Given the description of an element on the screen output the (x, y) to click on. 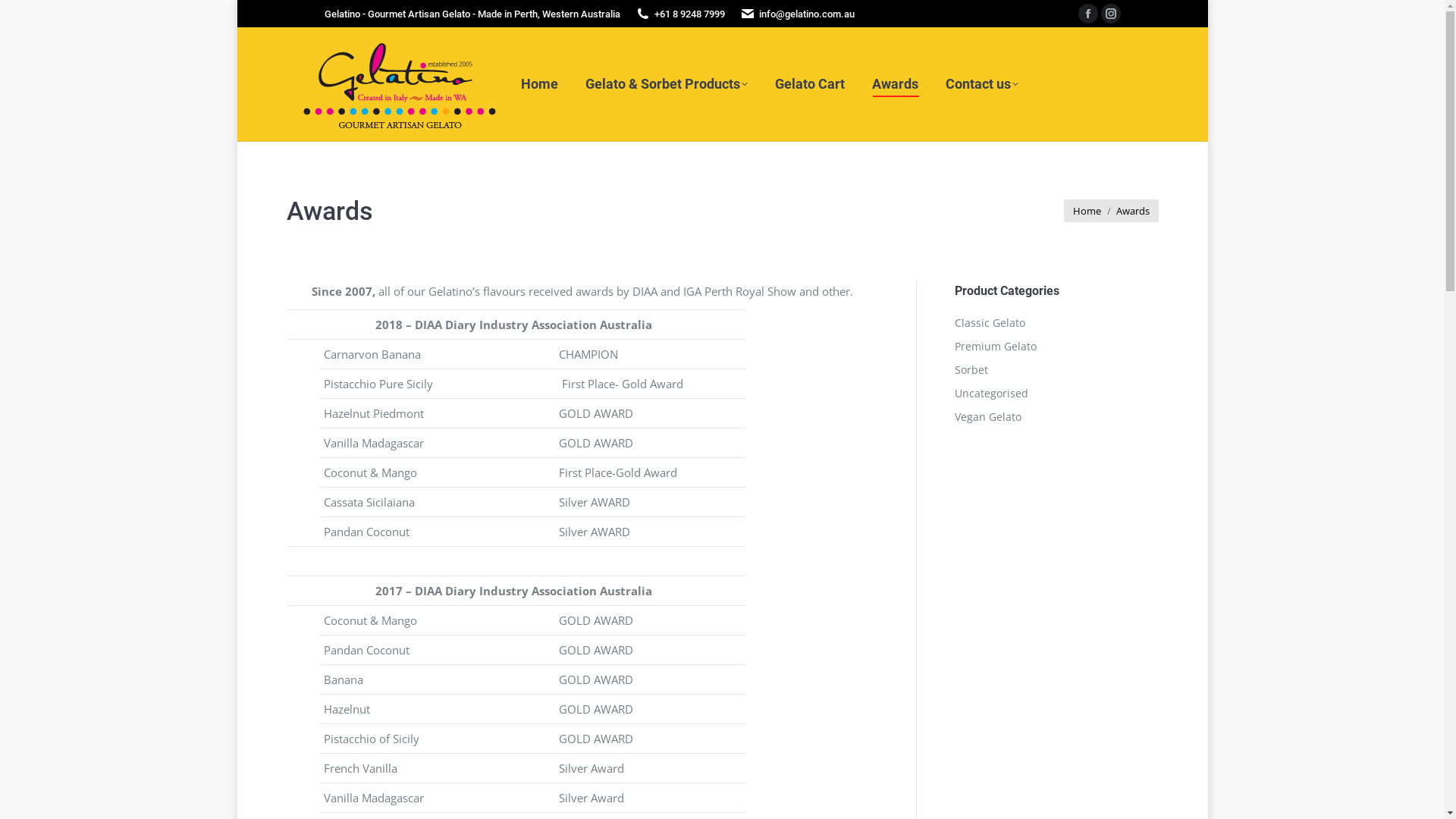
Home Element type: text (1086, 210)
Sorbet Element type: text (970, 369)
Premium Gelato Element type: text (994, 346)
Gelato & Sorbet Products Element type: text (666, 83)
Uncategorised Element type: text (990, 393)
Vegan Gelato Element type: text (986, 416)
Home Element type: text (538, 83)
Awards Element type: text (895, 83)
Contact us Element type: text (980, 83)
Gelato Cart Element type: text (809, 83)
Classic Gelato Element type: text (988, 322)
Facebook page opens in new window Element type: text (1088, 13)
Instagram page opens in new window Element type: text (1110, 13)
